Given the description of an element on the screen output the (x, y) to click on. 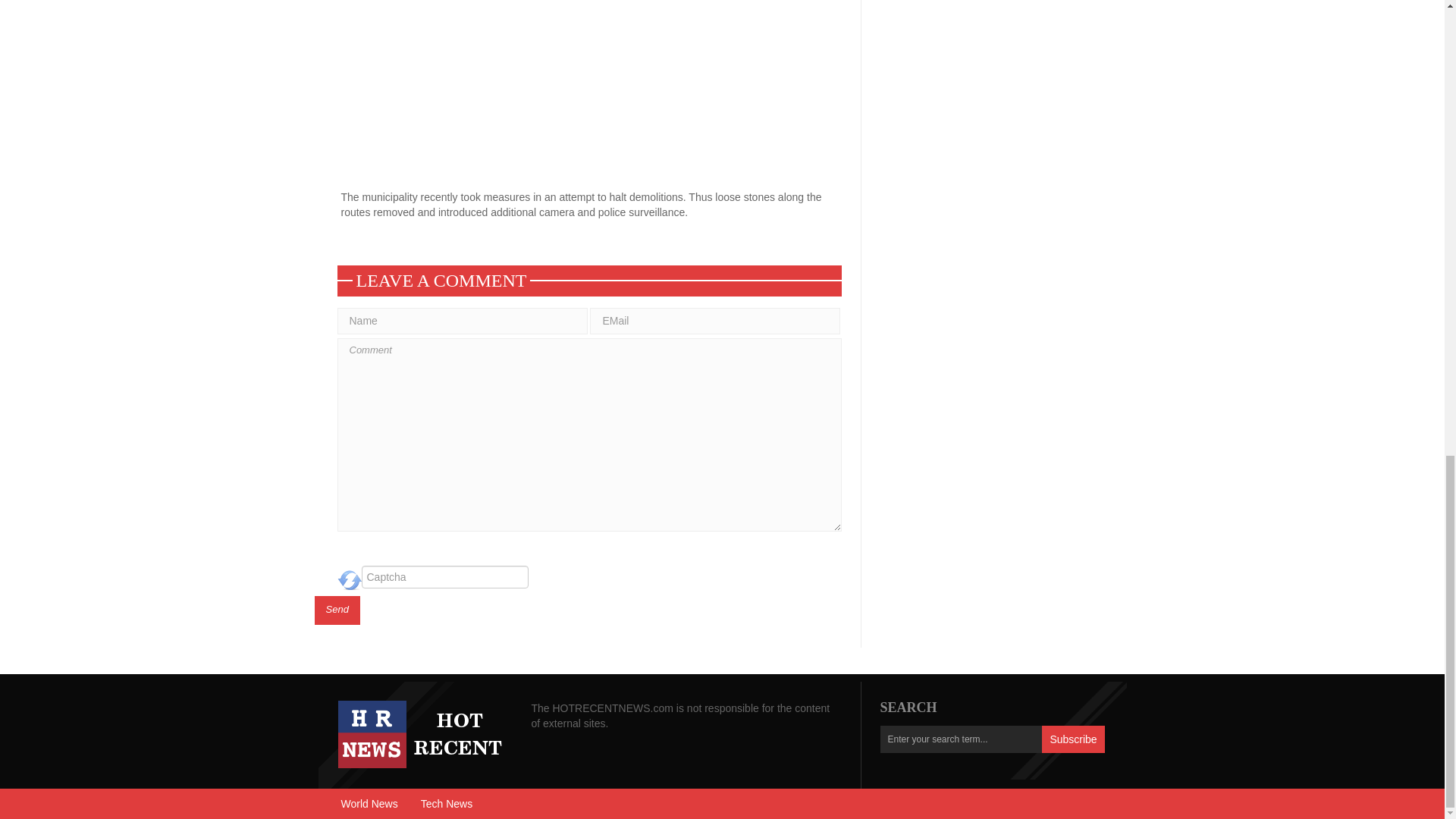
Subscribe (1072, 738)
Enter your search term... (960, 738)
Send (336, 610)
